Given the description of an element on the screen output the (x, y) to click on. 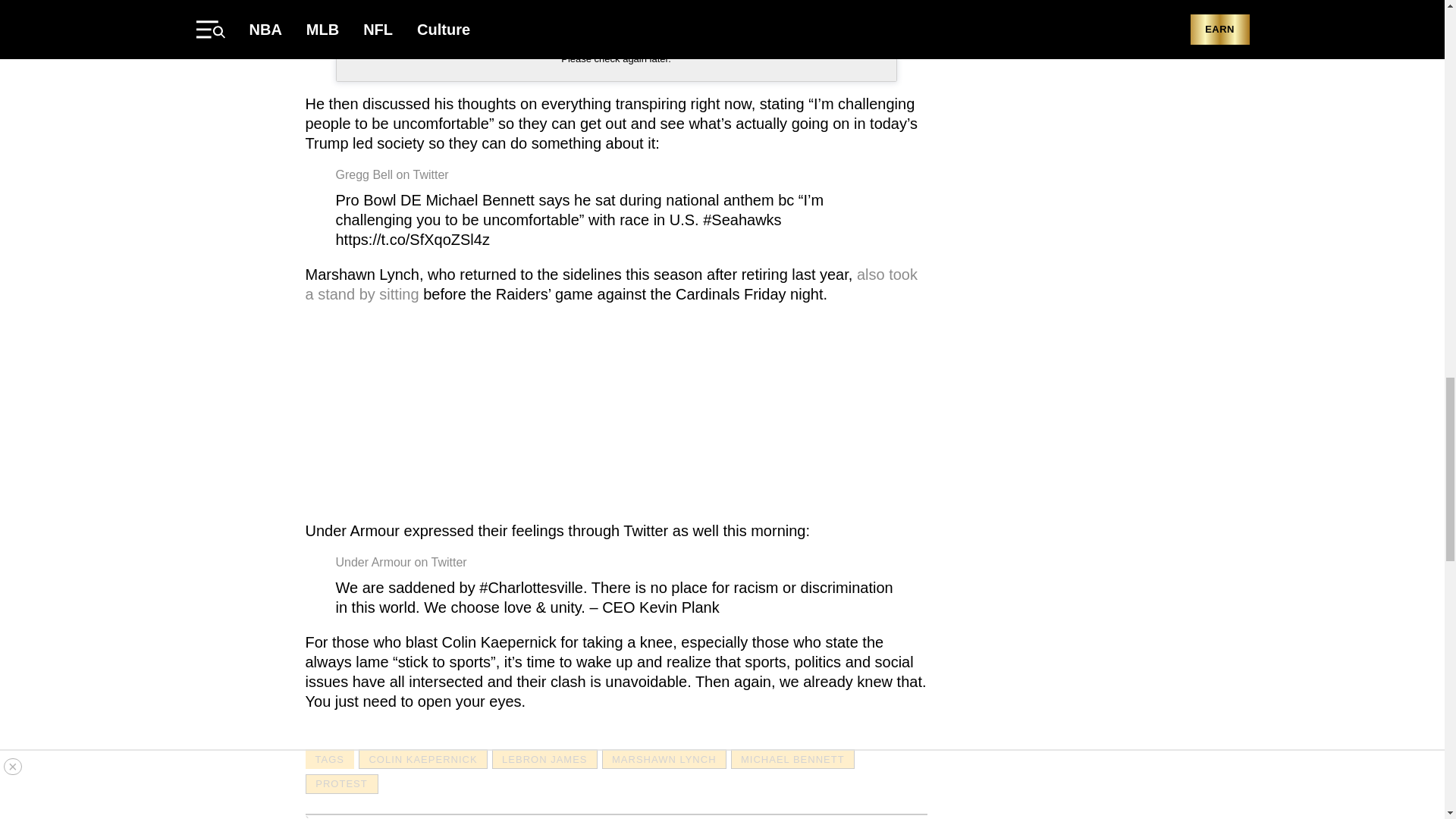
TAGS (328, 759)
Gregg Bell on Twitter (391, 174)
Under Armour on Twitter (399, 562)
also took a stand by sitting (610, 284)
